Given the description of an element on the screen output the (x, y) to click on. 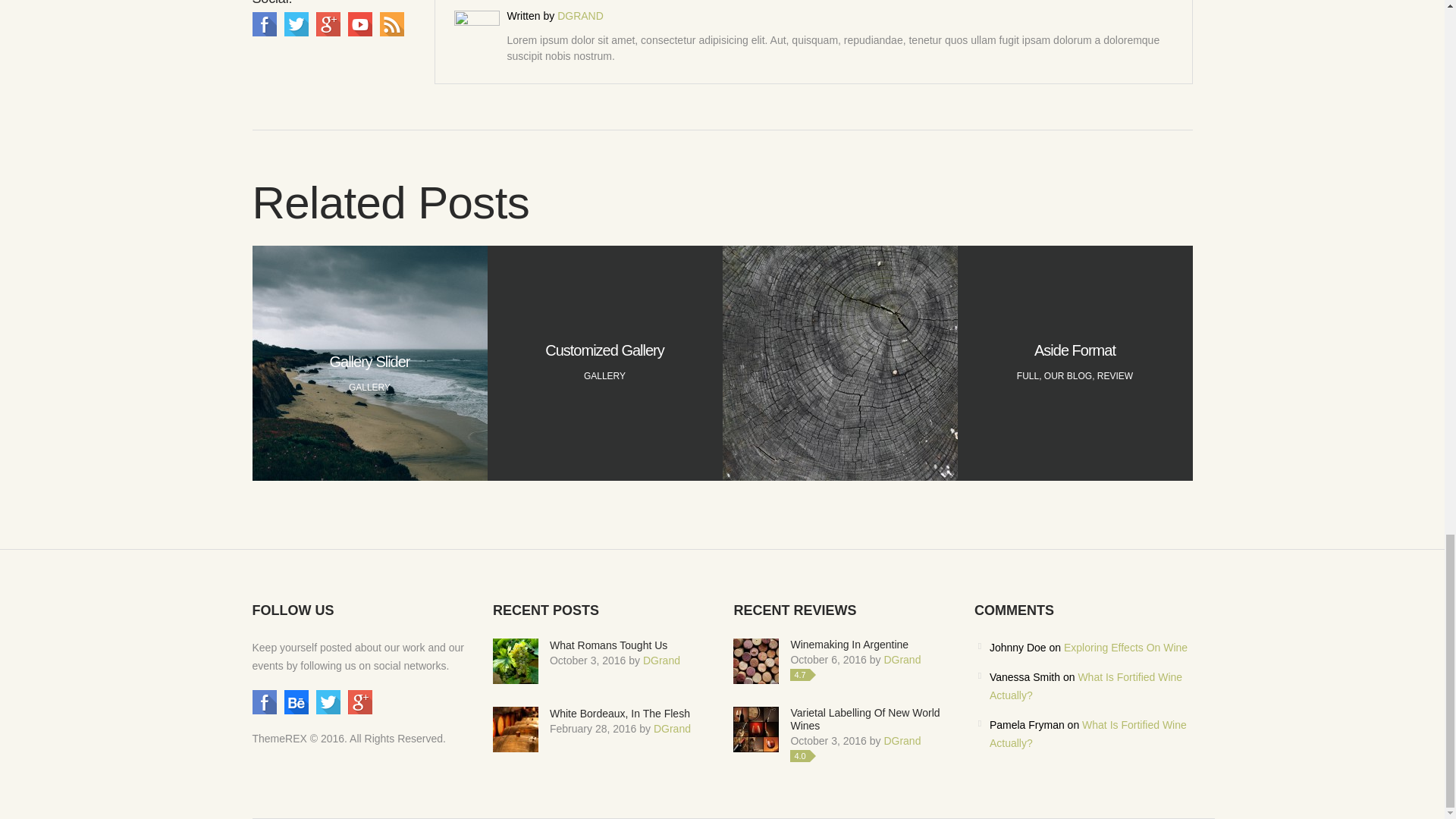
RSS (390, 24)
Youtube (359, 24)
Twitter (295, 24)
Facebook (263, 24)
